Given the description of an element on the screen output the (x, y) to click on. 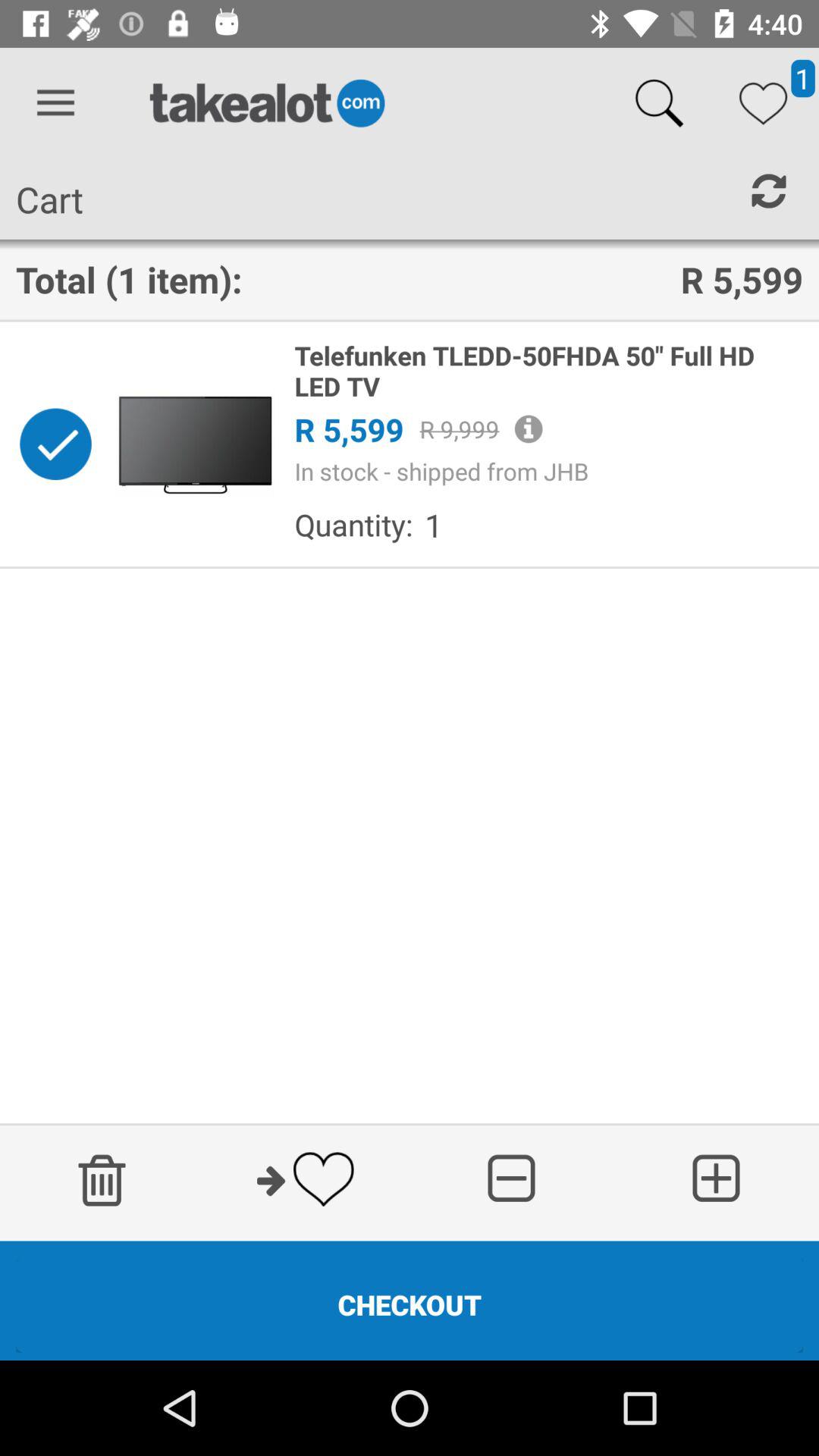
remove from cart (55, 444)
